Given the description of an element on the screen output the (x, y) to click on. 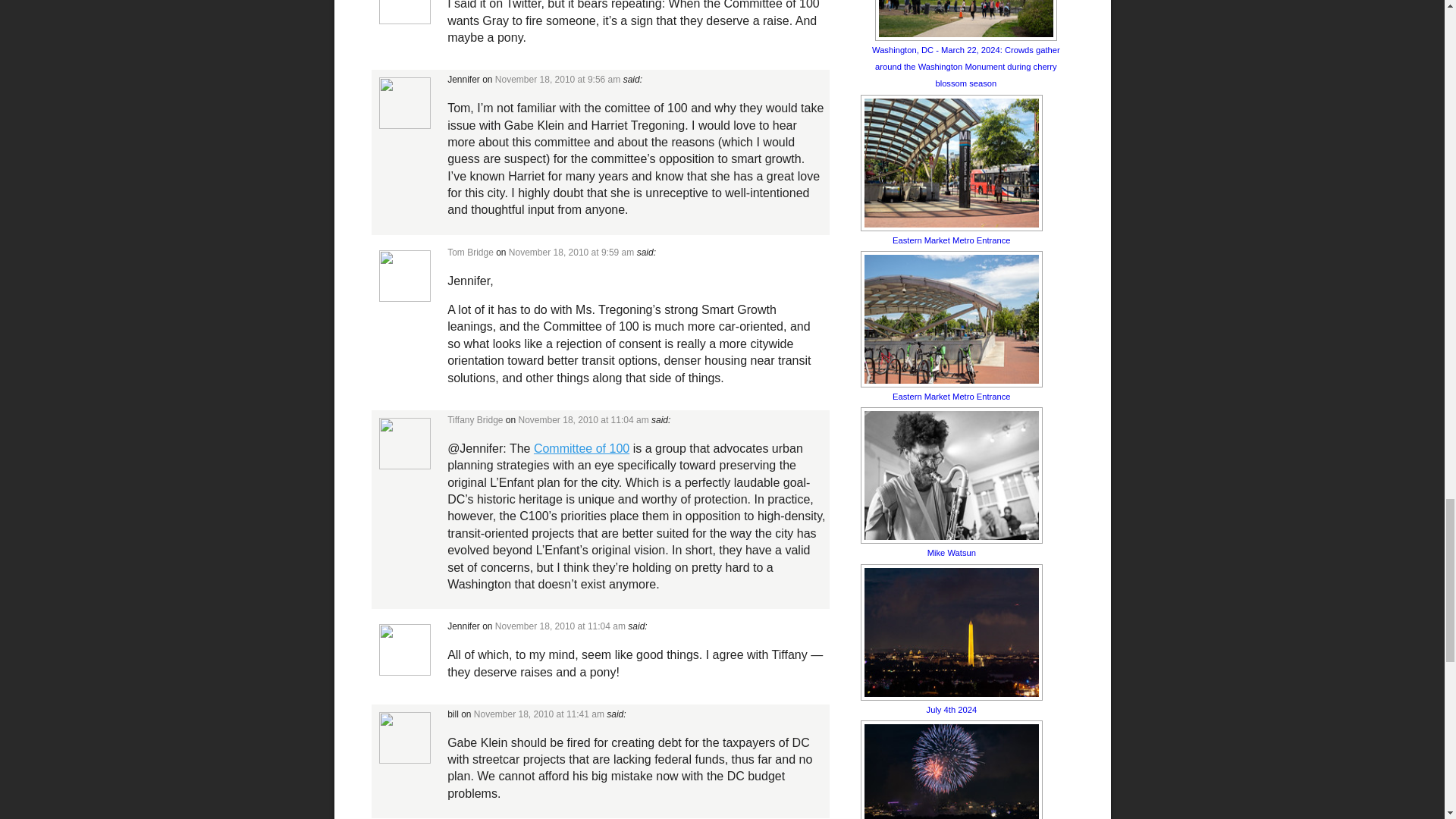
November 18, 2010 at 11:04 am (583, 419)
Committee of 100 (581, 448)
Tom Bridge (469, 252)
November 18, 2010 at 9:59 am (570, 252)
November 18, 2010 at 9:56 am (557, 79)
November 18, 2010 at 11:41 am (539, 714)
Tiffany Bridge (474, 419)
November 18, 2010 at 11:04 am (560, 625)
